Given the description of an element on the screen output the (x, y) to click on. 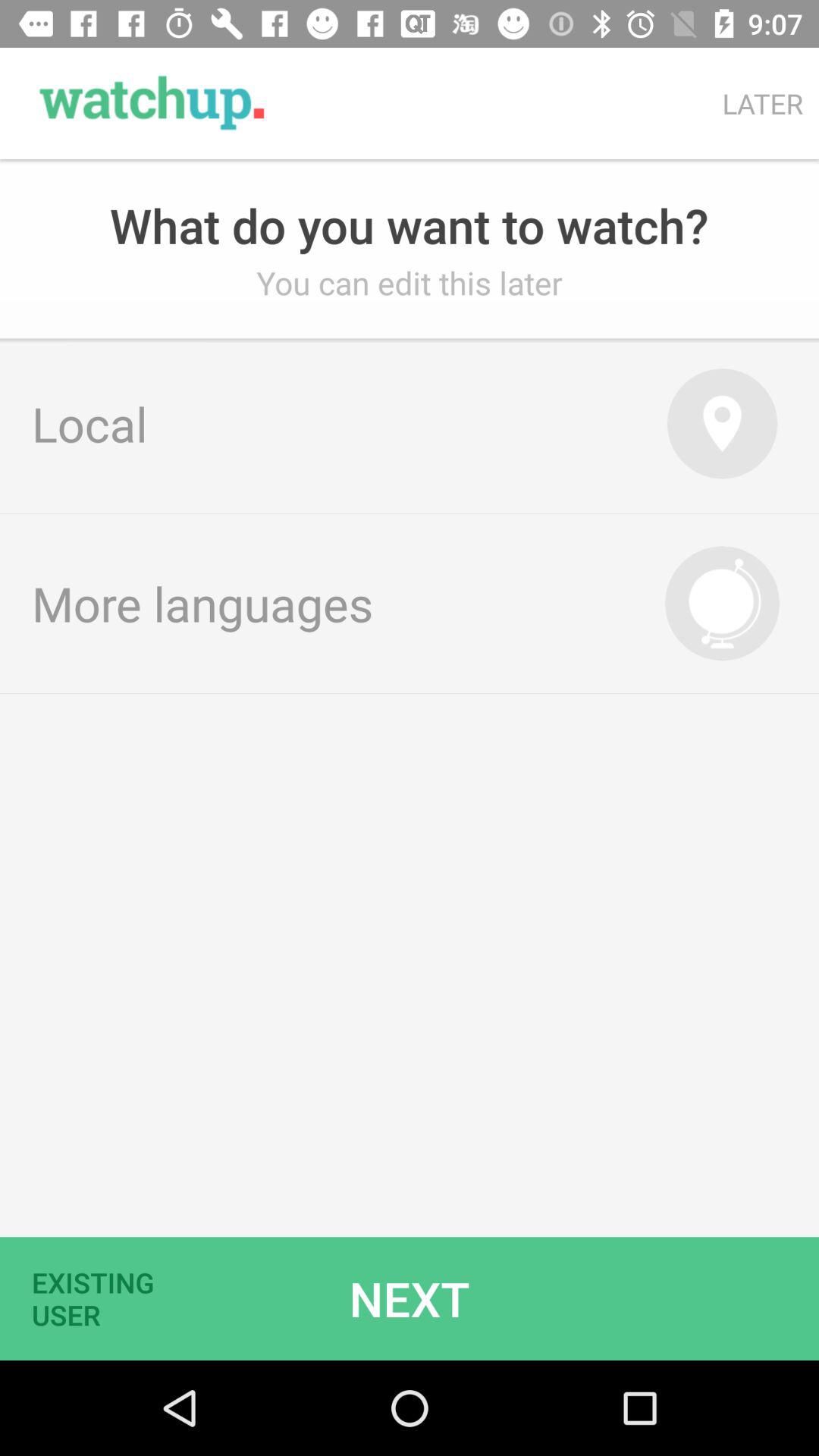
launch item to the left of the next icon (102, 1298)
